Given the description of an element on the screen output the (x, y) to click on. 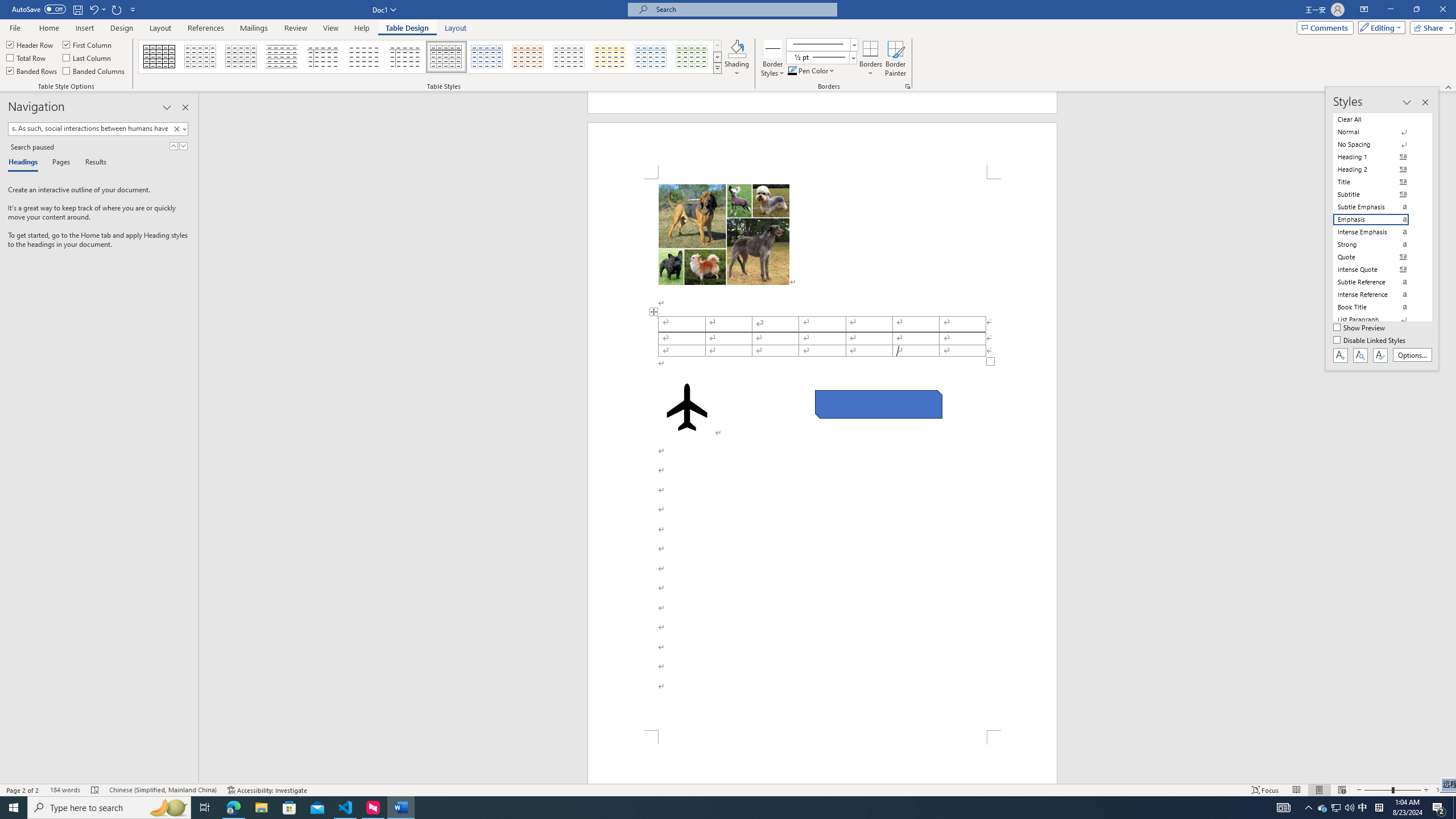
Total Row (26, 56)
Repeat Style (117, 9)
Pen Style (821, 44)
Book Title (1377, 306)
Strong (1377, 244)
Banded Columns (94, 69)
First Column (88, 44)
Pen Color RGB(0, 0, 0) (791, 69)
